Given the description of an element on the screen output the (x, y) to click on. 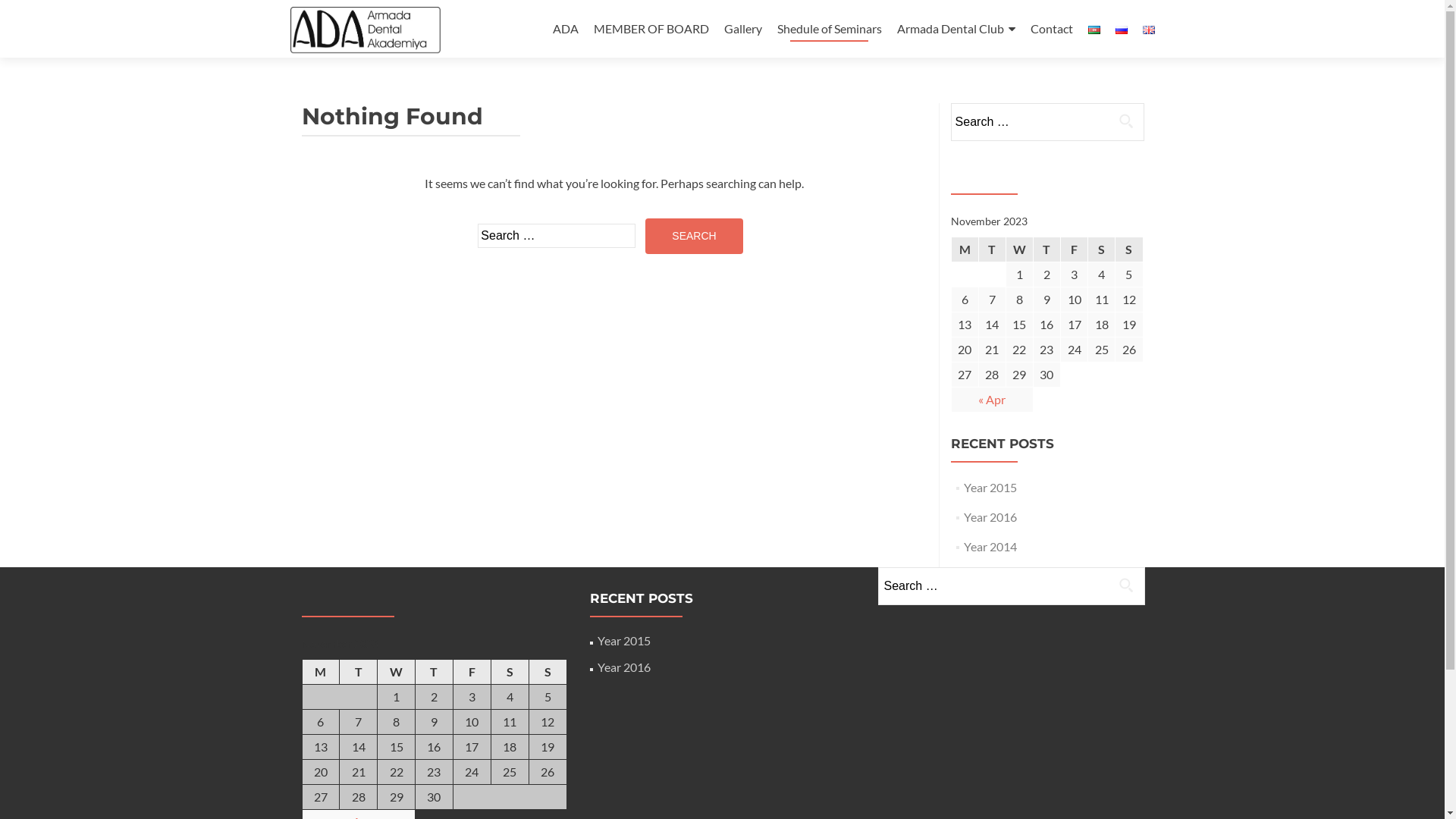
Year 2016 Element type: text (623, 666)
English Element type: hover (1148, 29)
Shedule of Seminars Element type: text (828, 28)
Armada Dental Club Element type: text (955, 28)
Gallery Element type: text (742, 28)
MEMBER OF BOARD Element type: text (650, 28)
Skip to content Element type: text (591, 9)
ADA Element type: text (564, 28)
Search Element type: text (693, 236)
Search Element type: text (1125, 120)
Year 2014 Element type: text (989, 546)
Contact Element type: text (1050, 28)
Year 2015 Element type: text (989, 487)
Year 2015 Element type: text (623, 640)
Year 2016 Element type: text (989, 516)
Search Element type: text (1125, 584)
